Given the description of an element on the screen output the (x, y) to click on. 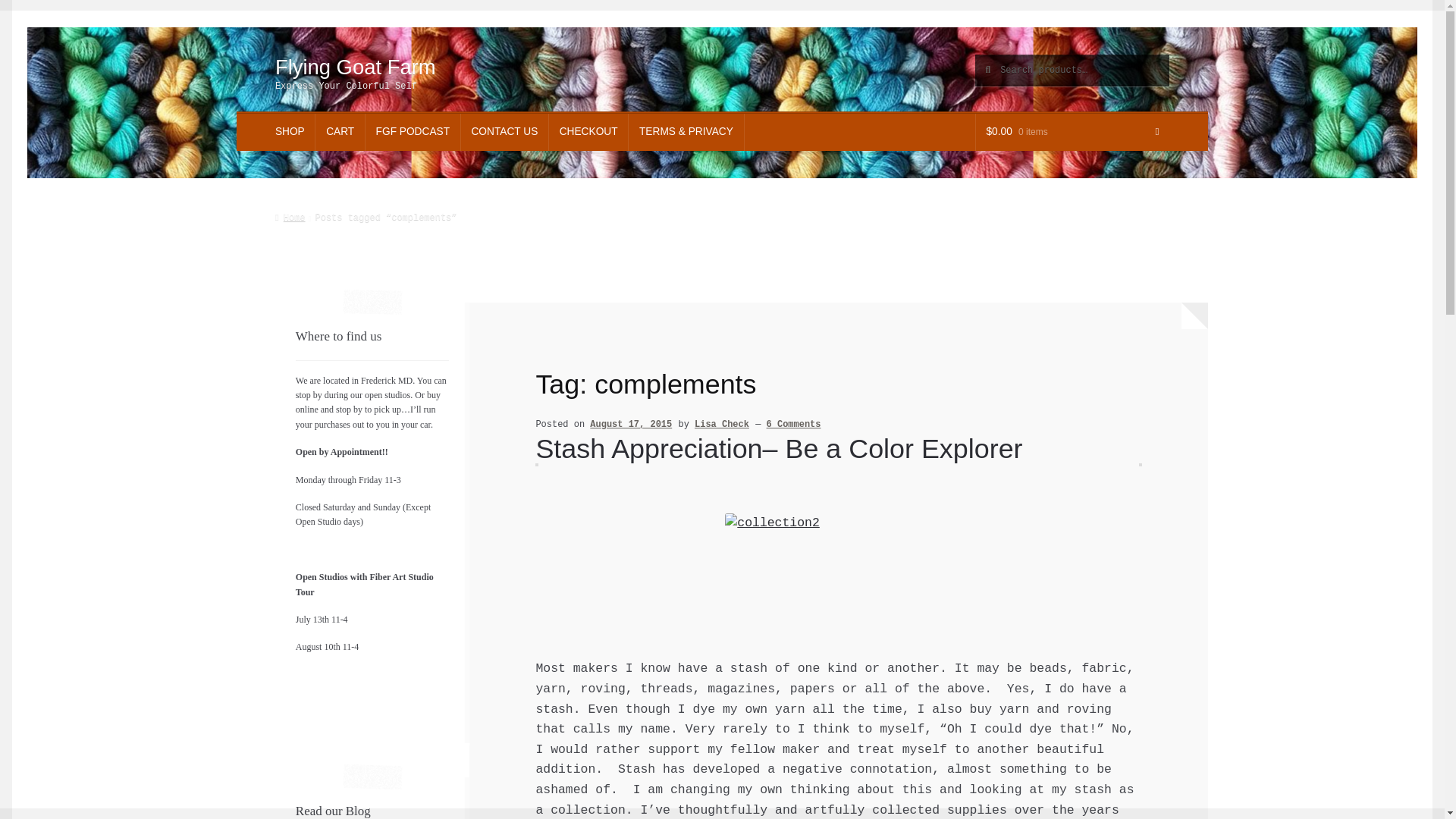
6 Comments (794, 424)
CONTACT US (504, 132)
Home (290, 217)
August 17, 2015 (630, 424)
FGF PODCAST (412, 132)
CART (339, 132)
SHOP (289, 132)
CHECKOUT (587, 132)
Flying Goat Farm (355, 66)
